Given the description of an element on the screen output the (x, y) to click on. 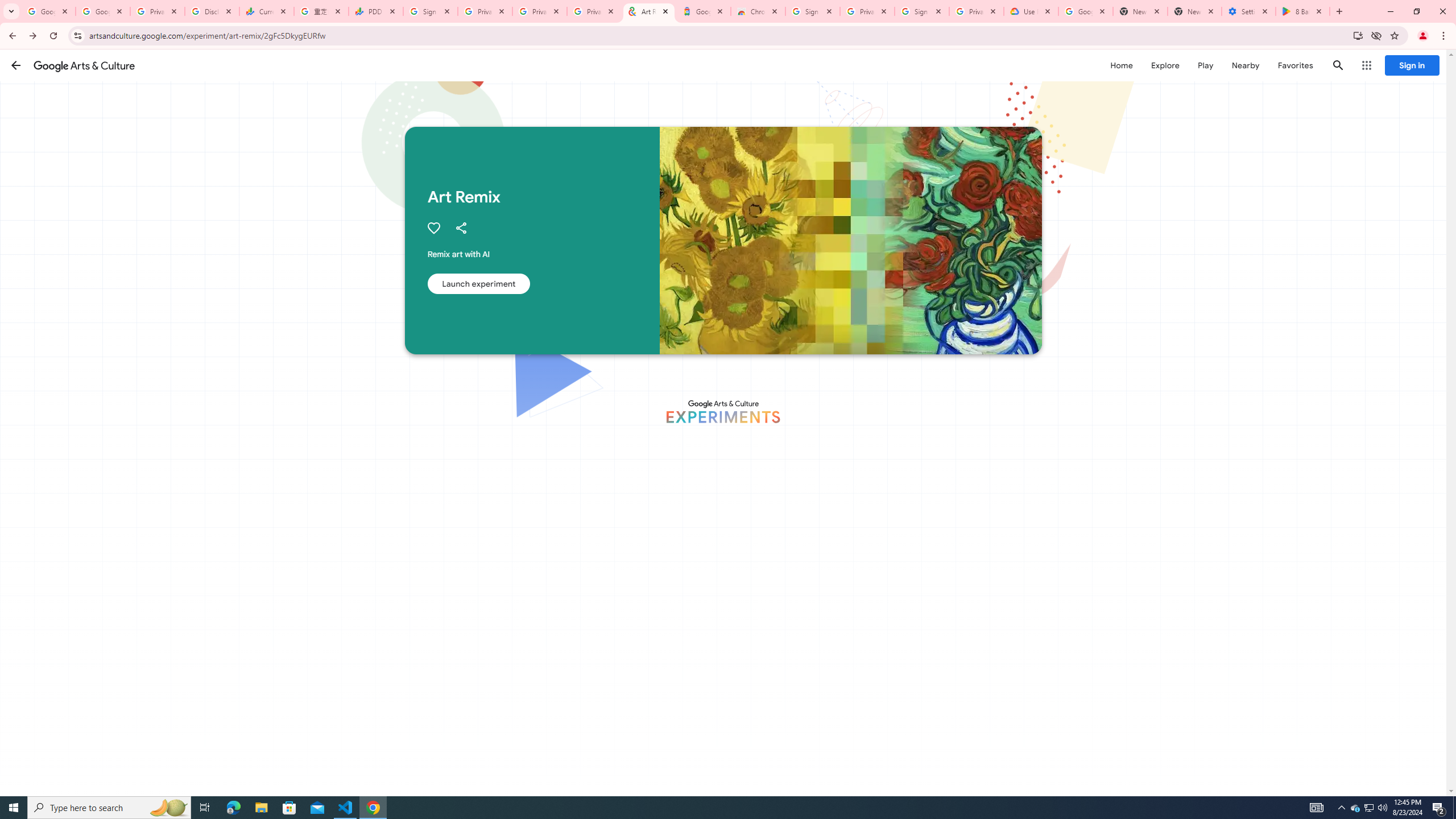
Chrome Web Store - Color themes by Chrome (757, 11)
AutomationID: animation-canvas (531, 422)
Sign in - Google Accounts (812, 11)
Privacy Checkup (539, 11)
Sign in - Google Accounts (430, 11)
New Tab (1194, 11)
